Given the description of an element on the screen output the (x, y) to click on. 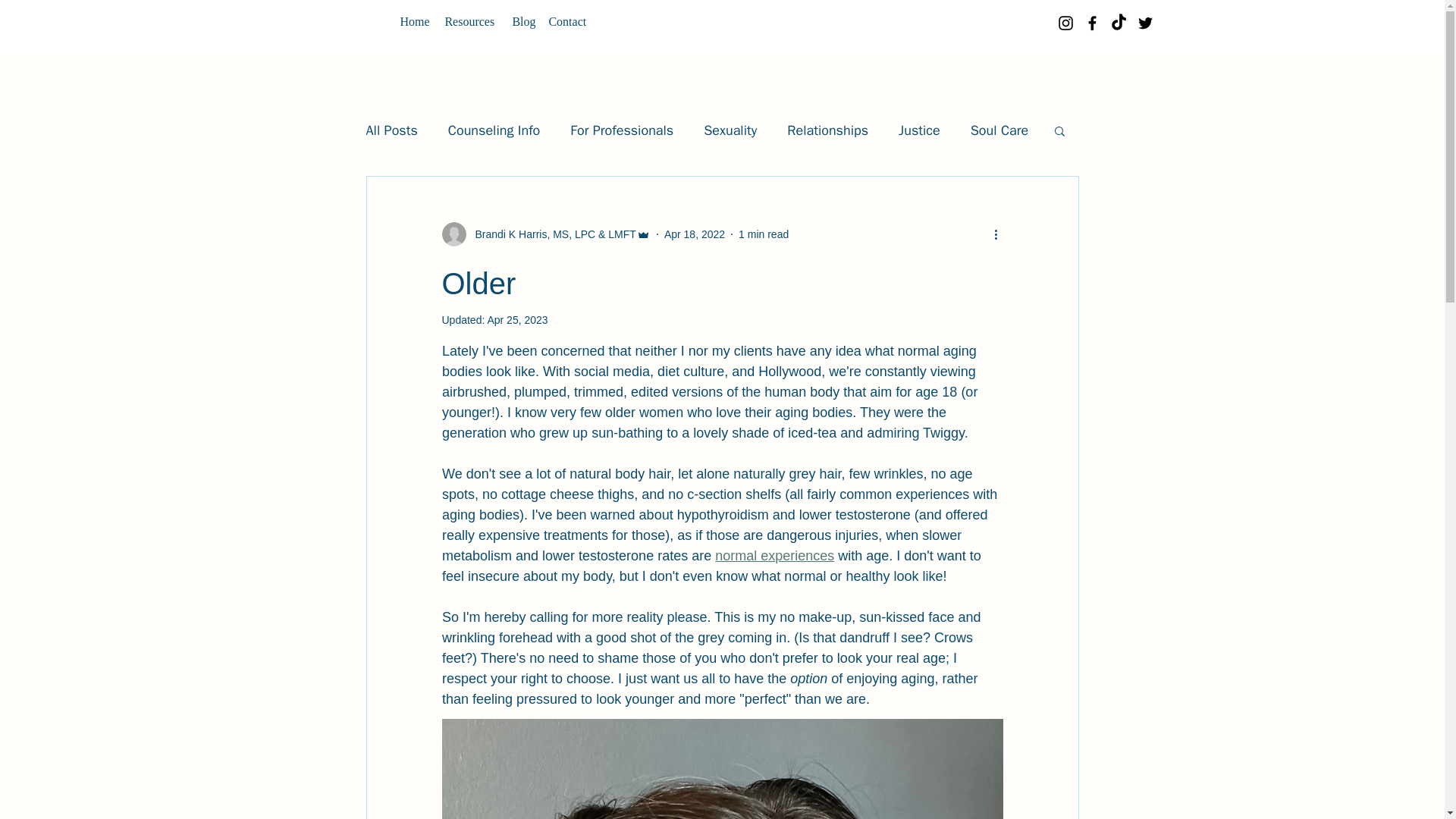
Resources (471, 14)
Relationships (827, 130)
Home (415, 14)
Contact (569, 14)
Blog (523, 14)
Counseling Info (494, 130)
Apr 18, 2022 (694, 233)
1 min read (763, 233)
Sexuality (730, 130)
normal experiences (774, 555)
Justice (919, 130)
Soul Care (1000, 130)
Apr 25, 2023 (516, 319)
For Professionals (621, 130)
All Posts (390, 130)
